Given the description of an element on the screen output the (x, y) to click on. 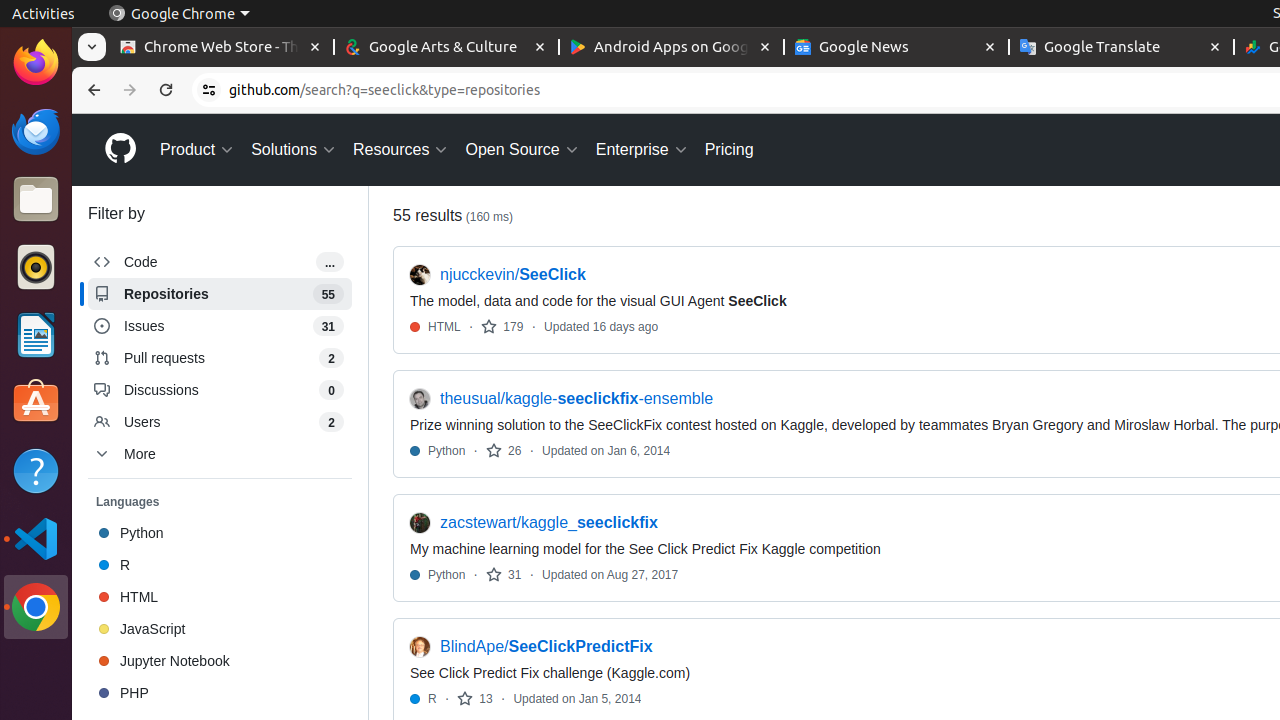
More Element type: list-item (220, 453)
Google News - Memory usage - 51.2 MB Element type: page-tab (896, 47)
26 stars Element type: link (504, 450)
Issues , 31 results  (31) Element type: link (220, 326)
Google Chrome Element type: menu (179, 13)
